Given the description of an element on the screen output the (x, y) to click on. 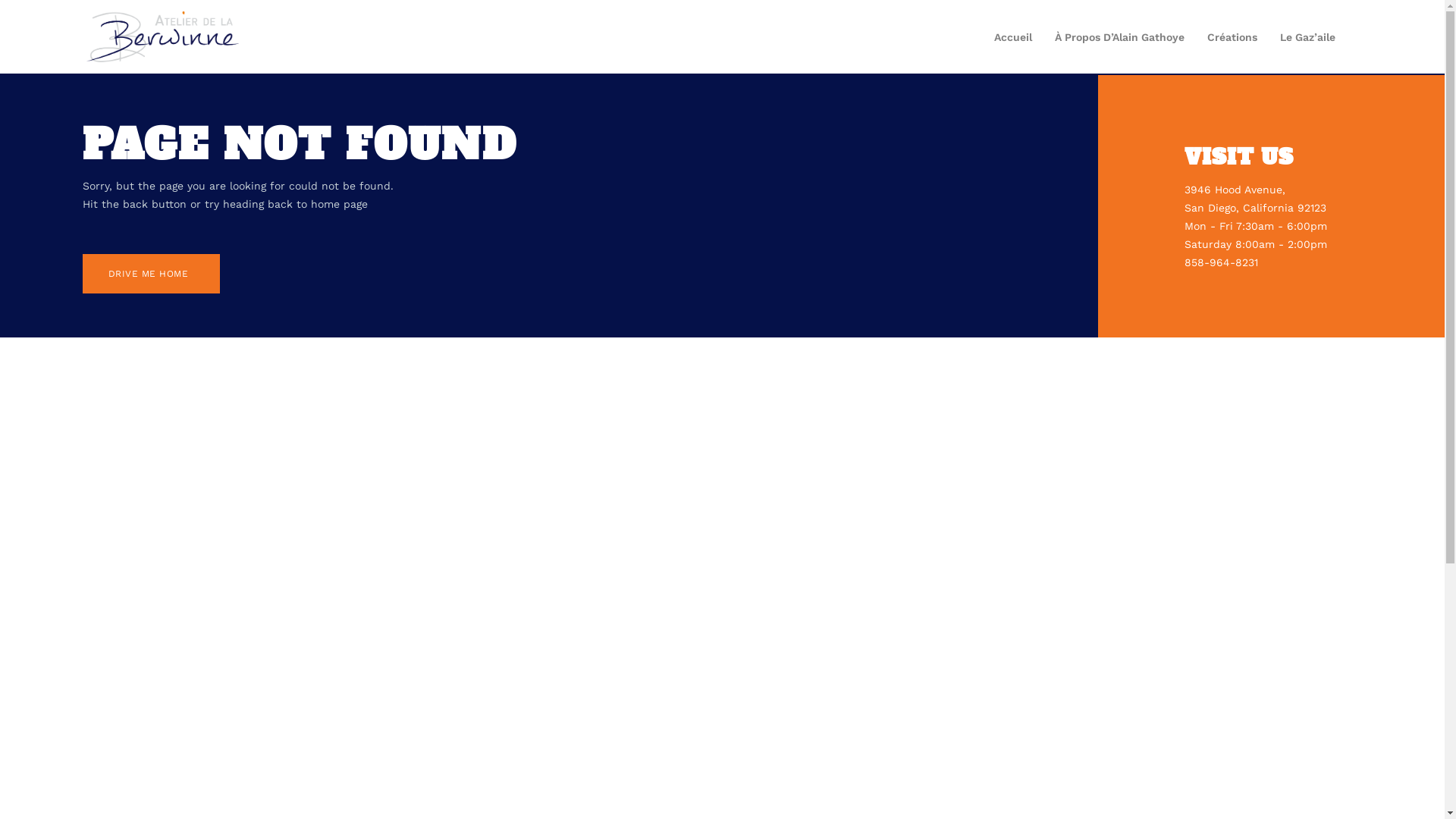
DRIVE ME HOME Element type: text (151, 273)
Accueil Element type: text (1013, 37)
